Given the description of an element on the screen output the (x, y) to click on. 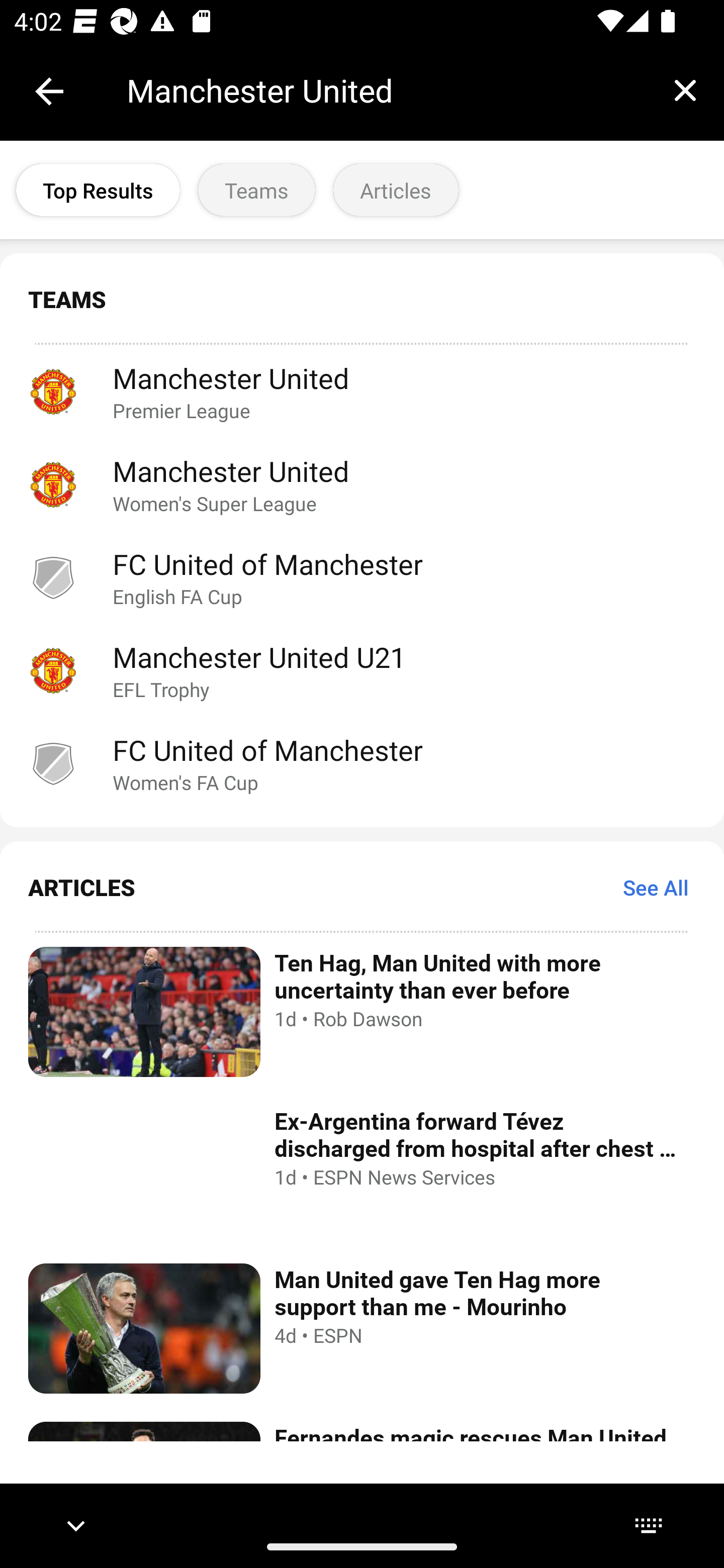
Collapse (49, 91)
Clear query (685, 89)
Manchester United (386, 90)
Top Results (97, 190)
Teams (256, 190)
Articles (395, 190)
See All (655, 886)
